Given the description of an element on the screen output the (x, y) to click on. 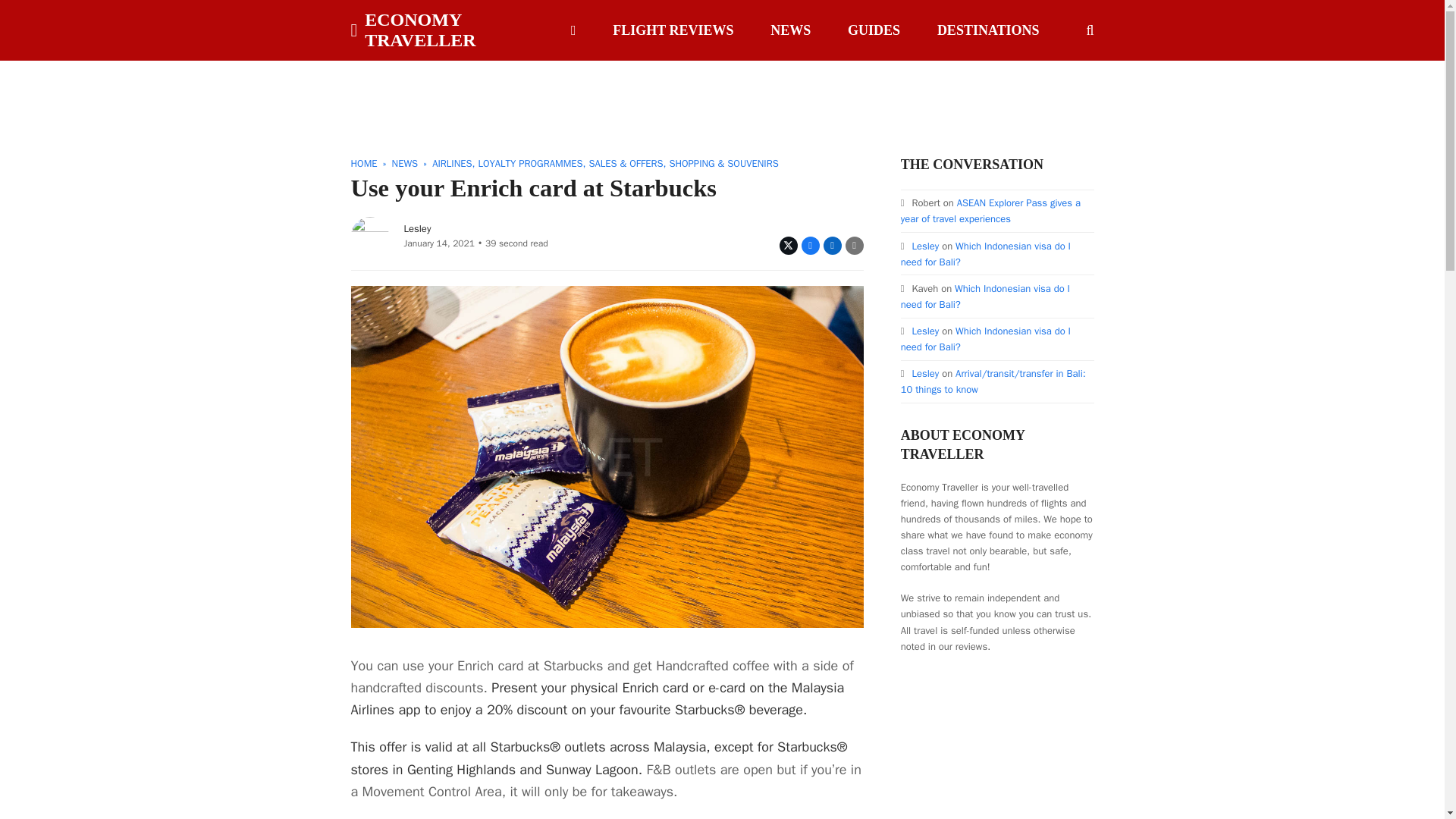
NEWS (405, 163)
Advertisement (721, 94)
Lesley (416, 227)
DESTINATIONS (988, 29)
Share on LinkedIn (832, 245)
AIRLINES (451, 163)
Go to Author Page (369, 234)
GUIDES (873, 29)
Share on Facebook (810, 245)
FLIGHT REVIEWS (672, 29)
HOME (363, 163)
LOYALTY PROGRAMMES (529, 163)
Post on X (787, 245)
Share via Email (854, 245)
NEWS (790, 29)
